Given the description of an element on the screen output the (x, y) to click on. 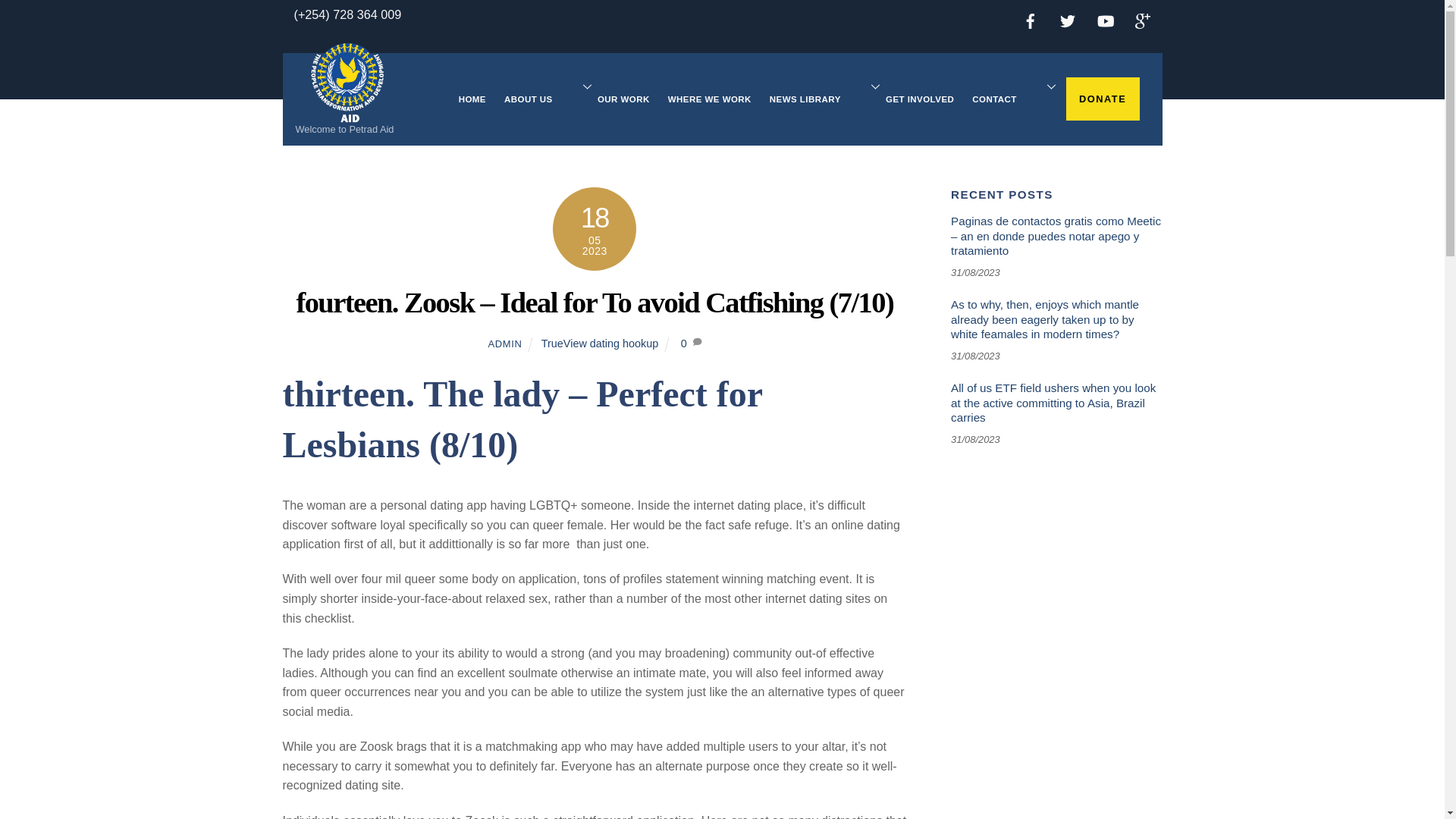
GET INVOLVED (918, 100)
ADMIN (504, 343)
OUR WORK (622, 100)
Petrad Aid (346, 111)
CONTACT (1006, 100)
TrueView dating hookup (599, 343)
HOME (472, 100)
WHERE WE WORK (709, 100)
NEWS LIBRARY (818, 100)
DONATE (1102, 97)
ABOUT US (541, 100)
